Given the description of an element on the screen output the (x, y) to click on. 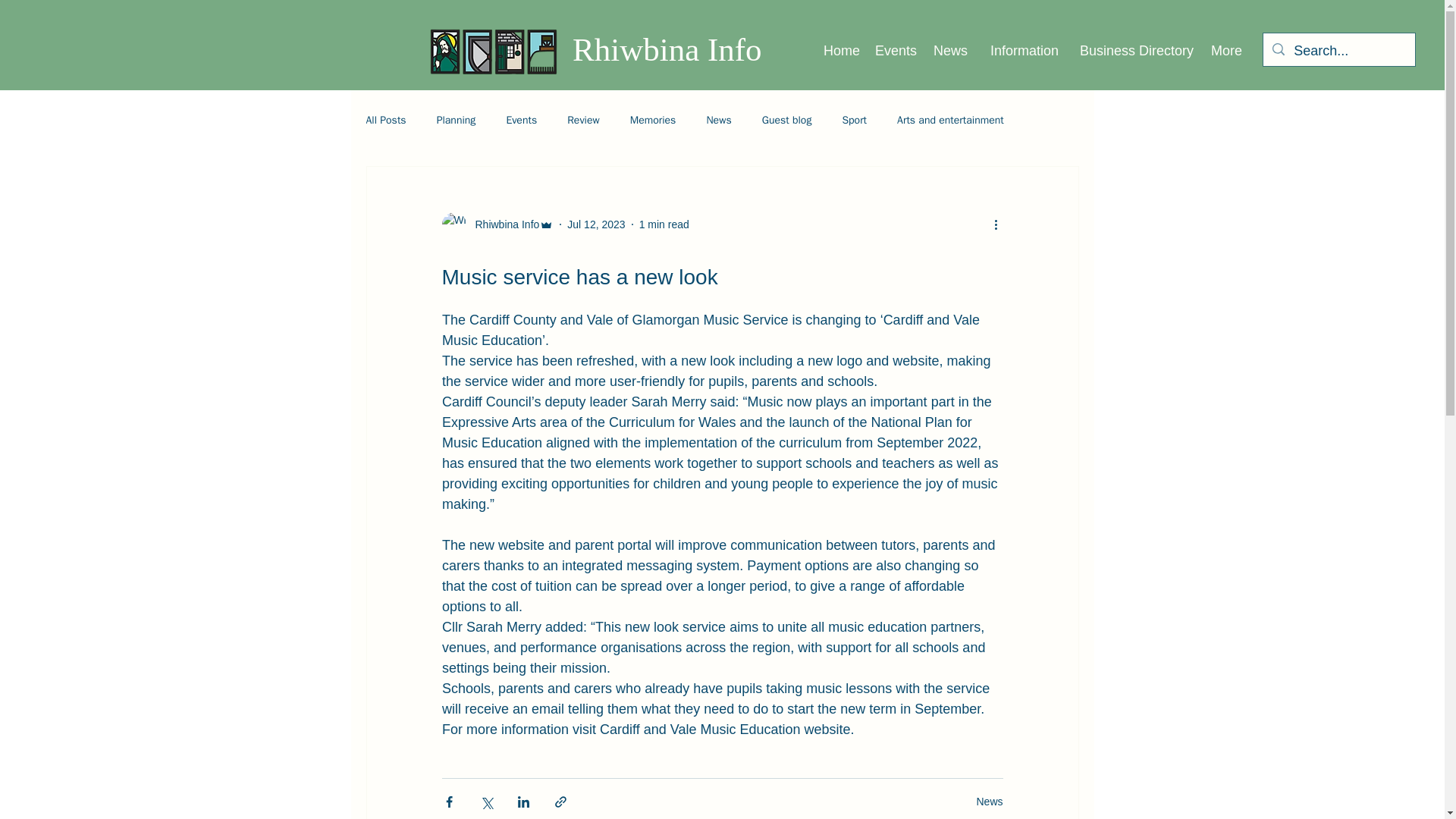
Rhiwbina Info (501, 224)
Home (840, 49)
Cardiff and Vale Music Education website (724, 729)
Planning (456, 120)
Rhiwbina Info (666, 49)
Information (1020, 49)
News (949, 49)
News (989, 800)
Events (521, 120)
Arts and entertainment (950, 120)
Memories (653, 120)
Rhiwbina Info (497, 224)
new website (506, 544)
Business Directory (1133, 49)
Events (895, 49)
